Given the description of an element on the screen output the (x, y) to click on. 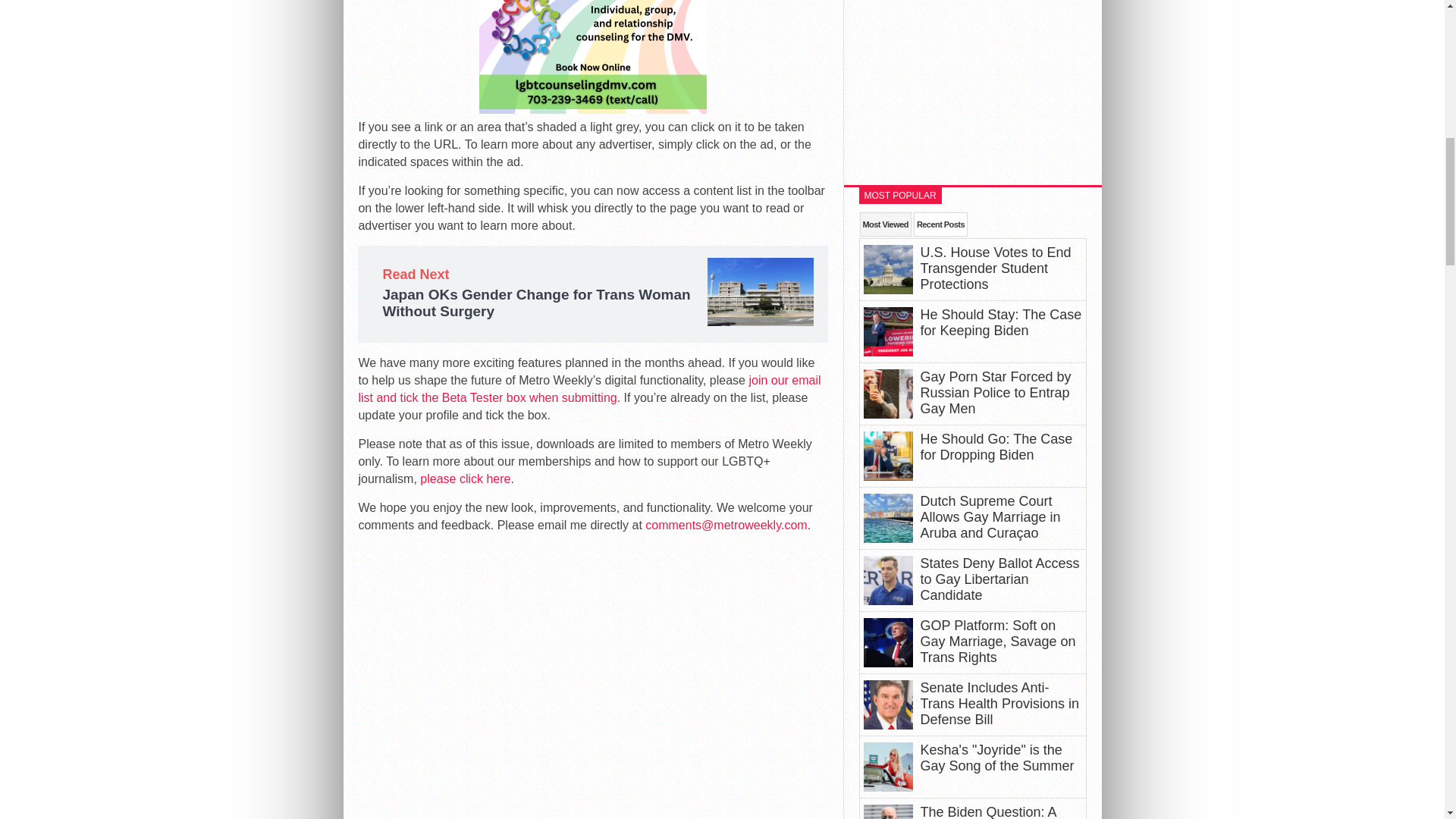
3rd party ad content (972, 84)
U.S. House Votes to End Transgender Student Protections (995, 267)
